Given the description of an element on the screen output the (x, y) to click on. 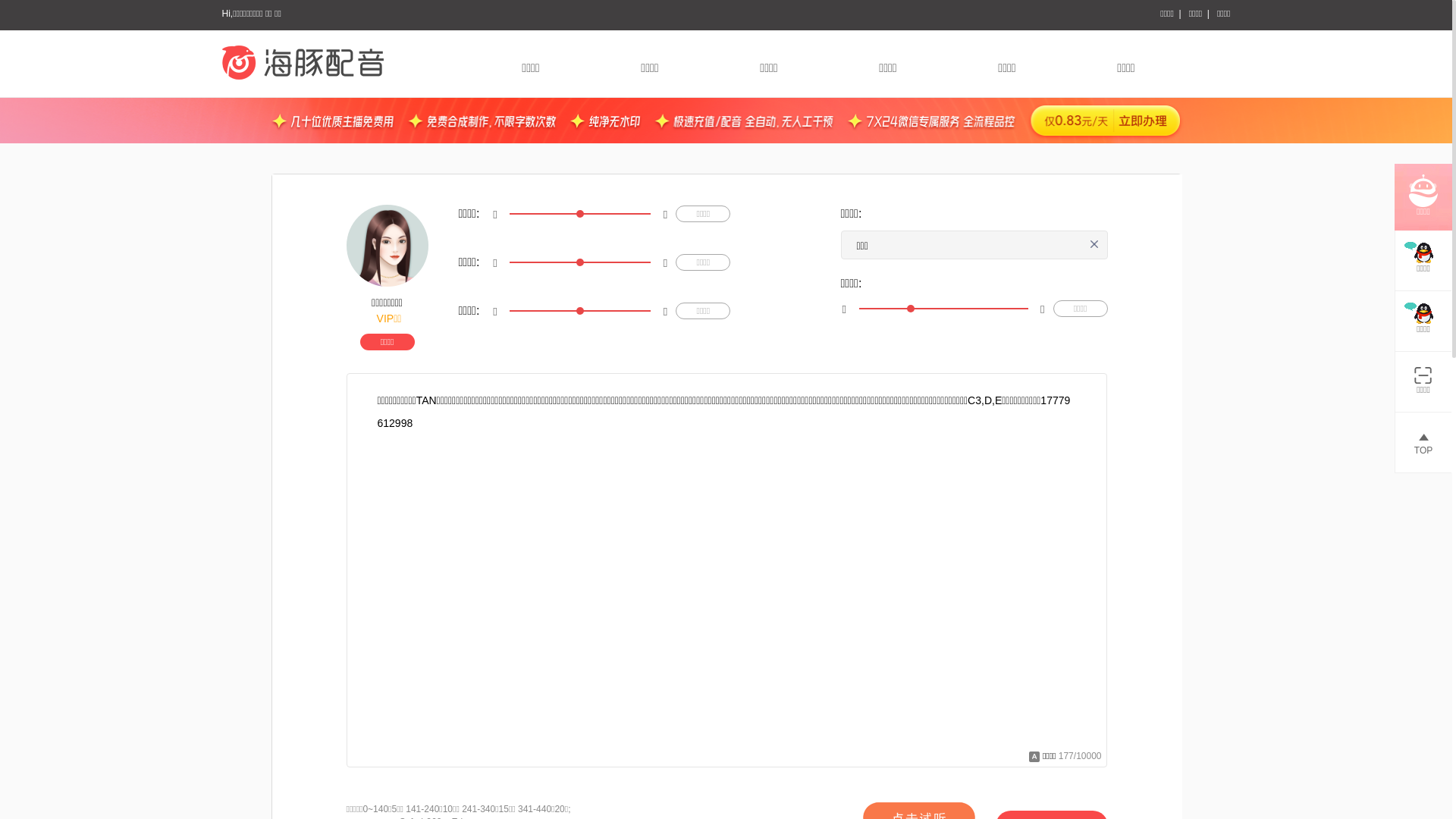
30 Element type: text (942, 308)
